Given the description of an element on the screen output the (x, y) to click on. 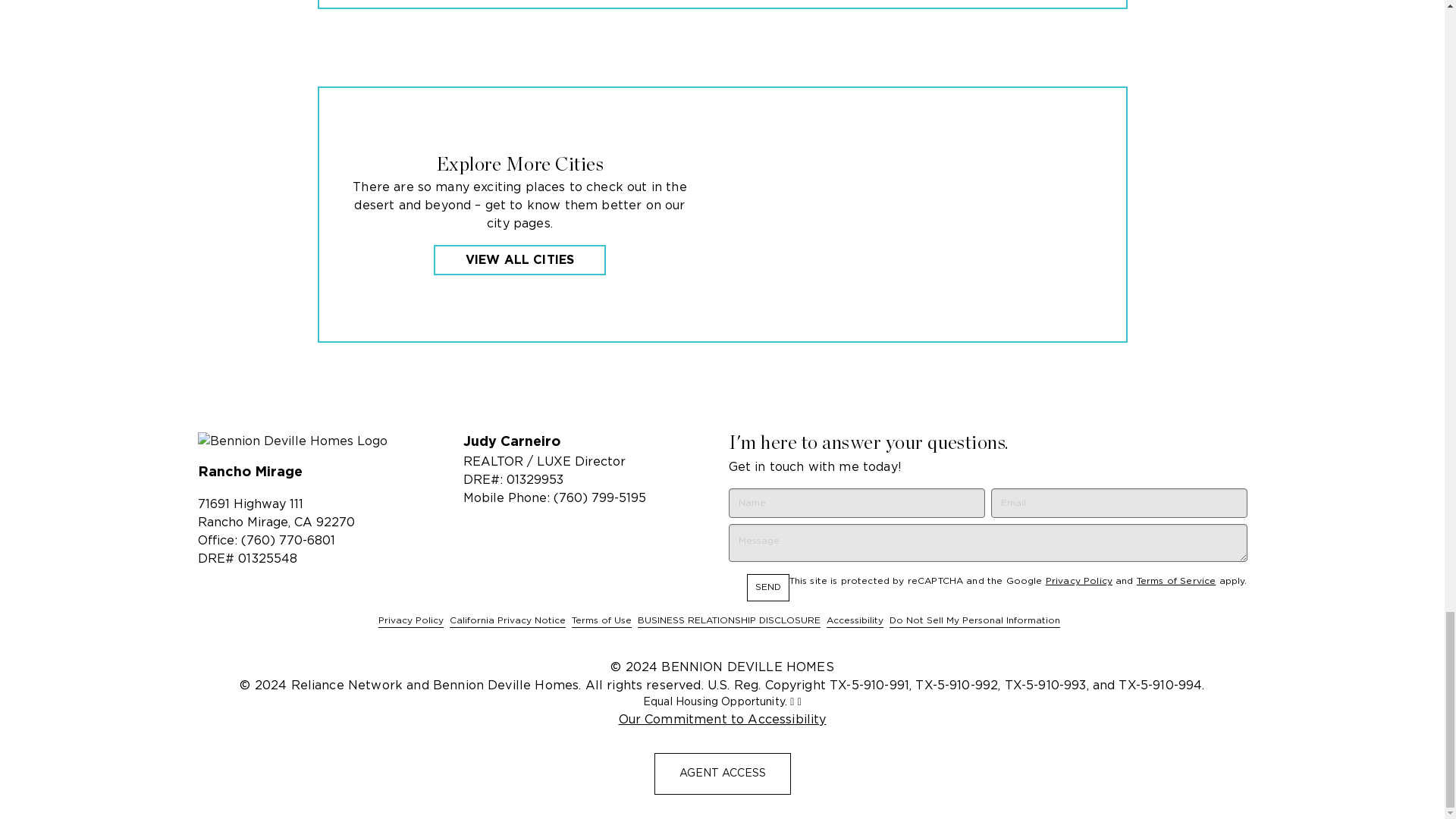
Privacy Policy (411, 619)
Send (767, 587)
VIEW ALL CITIES (519, 259)
Terms of Service (1176, 580)
Privacy Policy (1078, 580)
Send (767, 587)
Bennion Deville Homes Logo (322, 441)
